Given the description of an element on the screen output the (x, y) to click on. 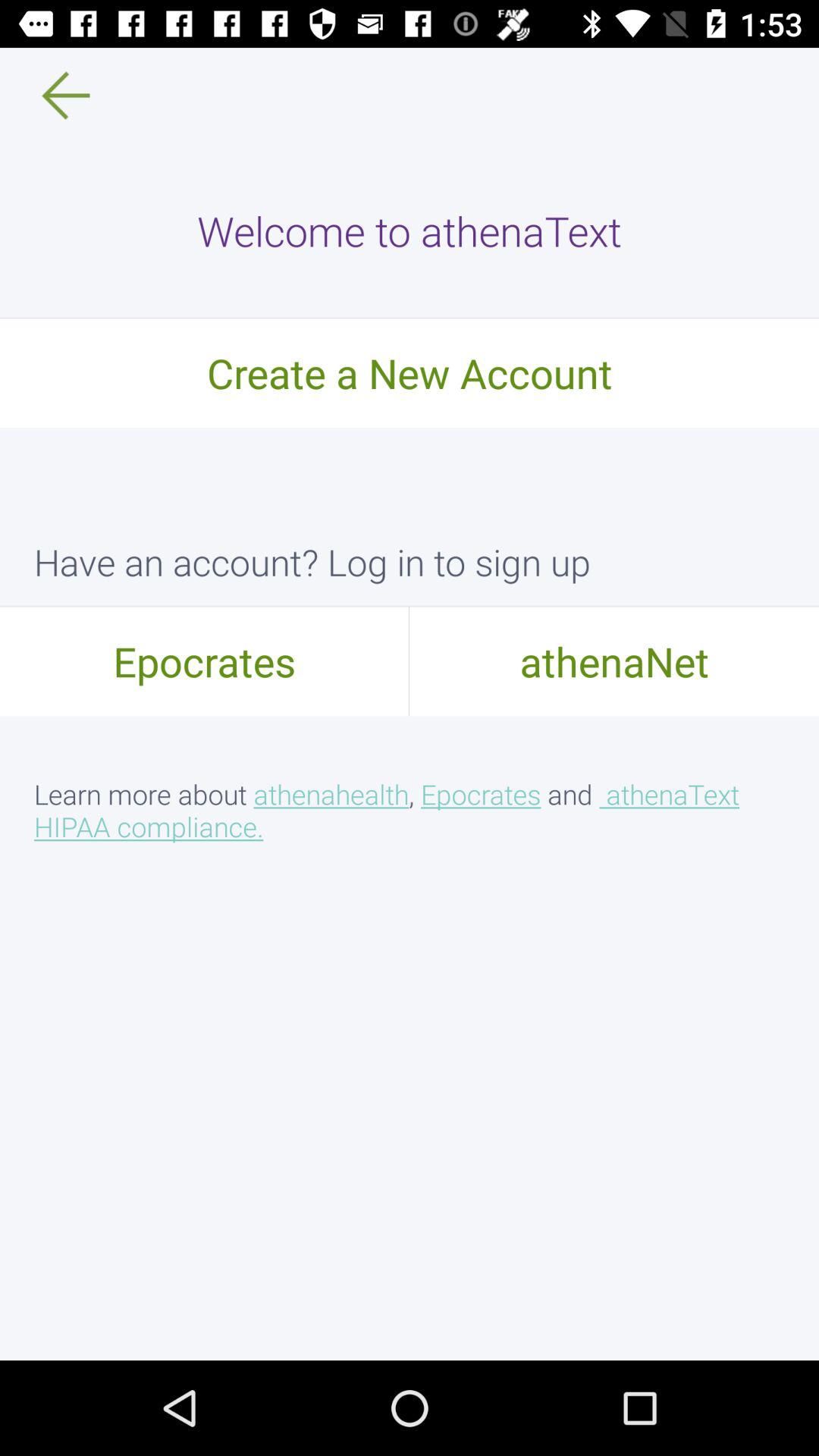
select icon next to the epocrates item (614, 661)
